Given the description of an element on the screen output the (x, y) to click on. 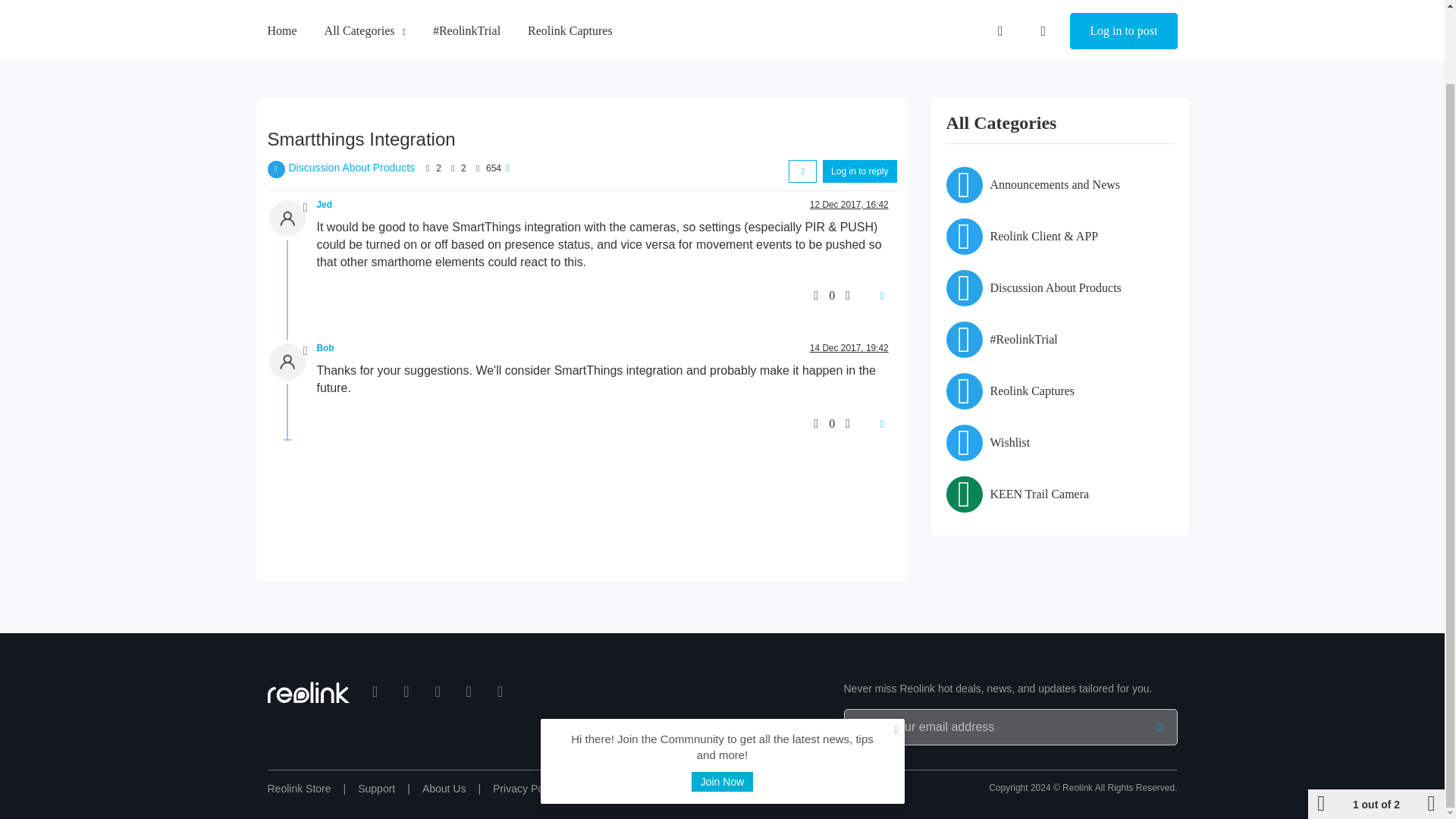
Views (477, 167)
654 (493, 167)
12 Dec 2017, 16:42 (848, 204)
Posters (427, 167)
Log in to reply (859, 170)
Posts (452, 167)
Log in to post (1123, 5)
Jed (325, 204)
12 Dec 2017, 16:42 (848, 204)
Discussion About Products (351, 167)
